Given the description of an element on the screen output the (x, y) to click on. 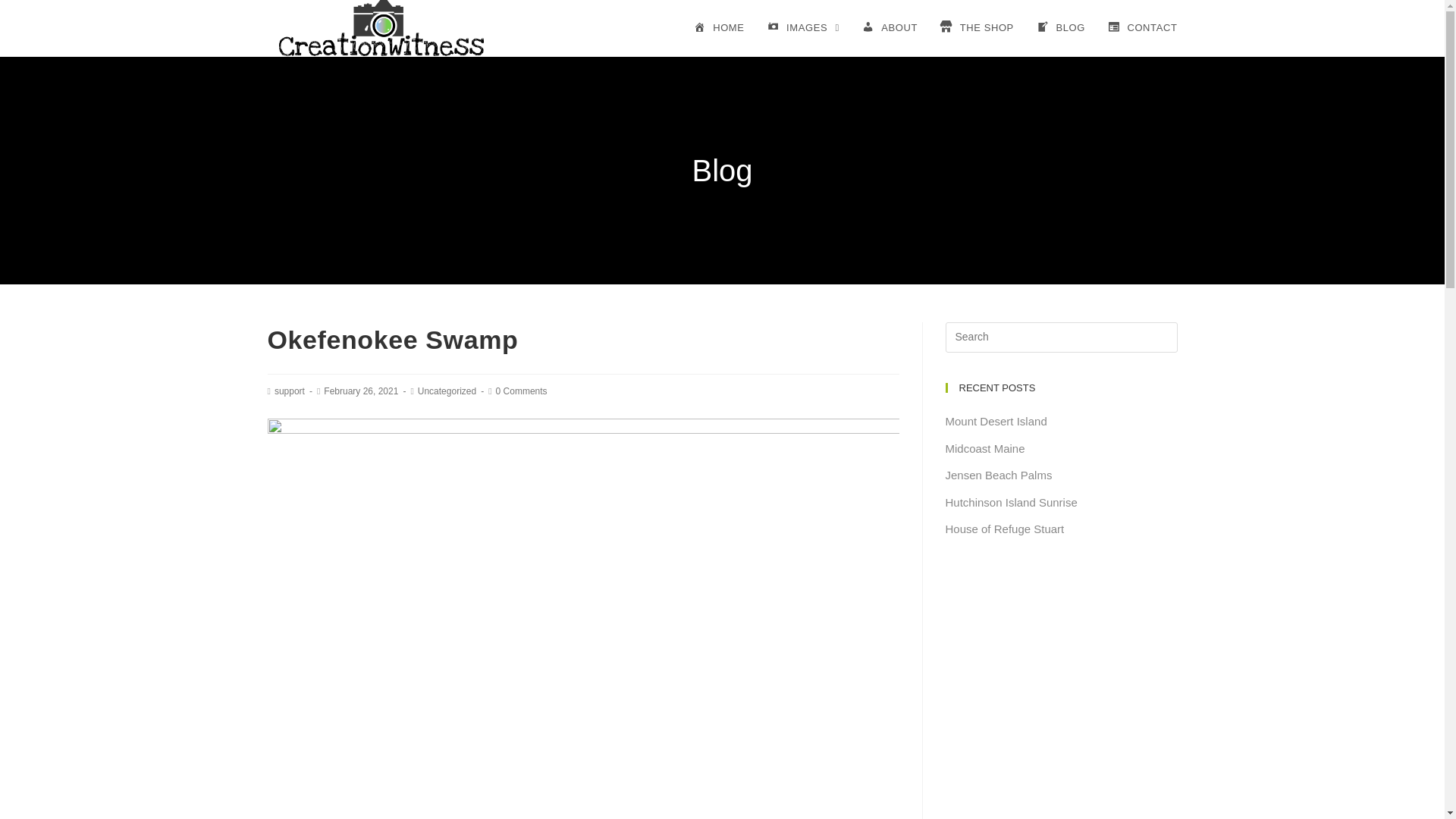
IMAGES (802, 28)
Jensen Beach Palms (997, 474)
Midcoast Maine (984, 447)
House of Refuge Stuart (1004, 528)
0 Comments (521, 390)
CONTACT (1142, 28)
Mount Desert Island (995, 420)
Posts by support (289, 390)
Hutchinson Island Sunrise (1010, 502)
BLOG (1060, 28)
